Given the description of an element on the screen output the (x, y) to click on. 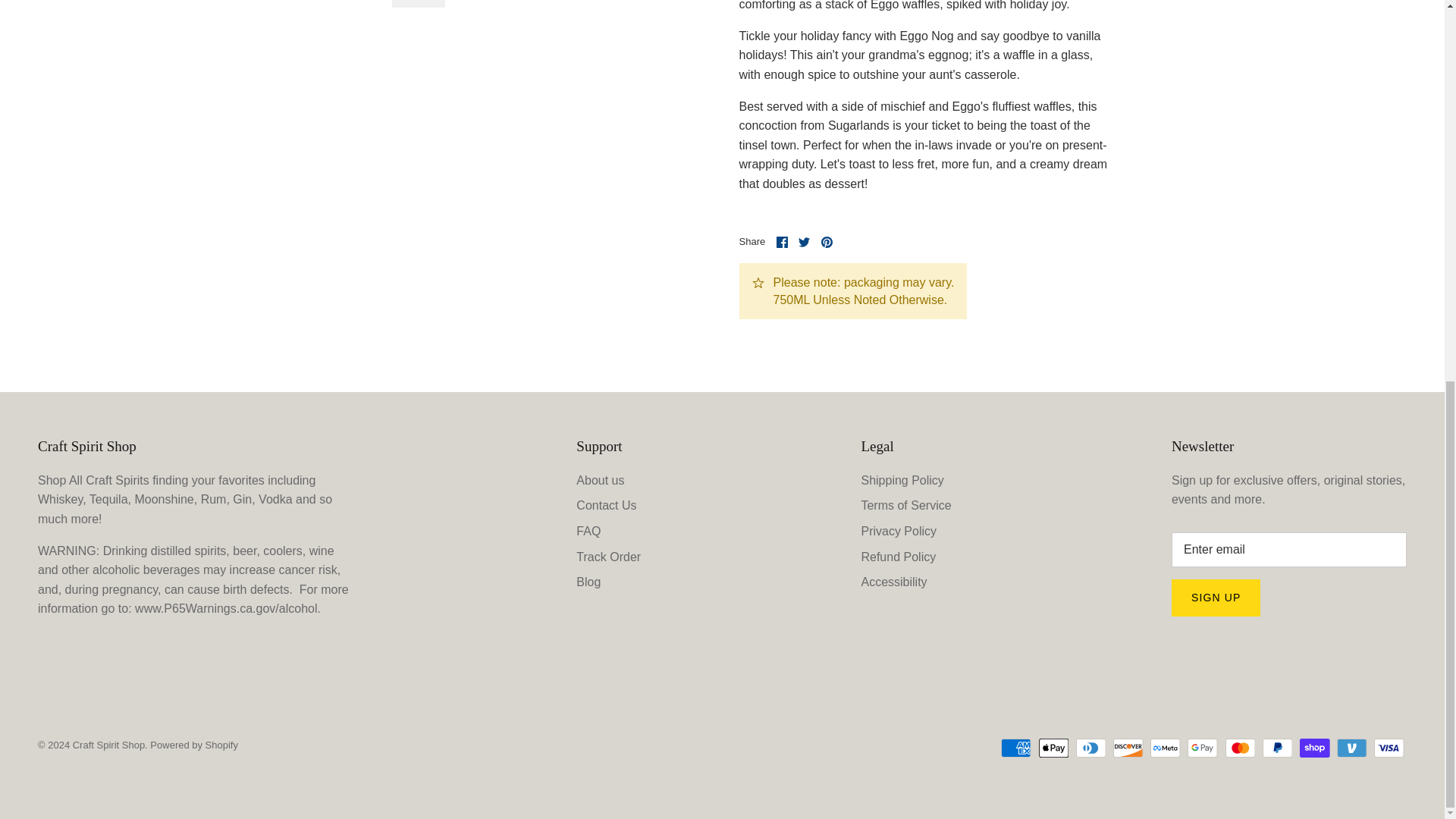
WARNING: Drinking (227, 608)
Google Pay (1202, 747)
Apple Pay (1053, 747)
Discover (1127, 747)
Twitter (803, 242)
Diners Club (1090, 747)
Facebook (781, 242)
Mastercard (1240, 747)
Pinterest (826, 242)
PayPal (1277, 747)
